Given the description of an element on the screen output the (x, y) to click on. 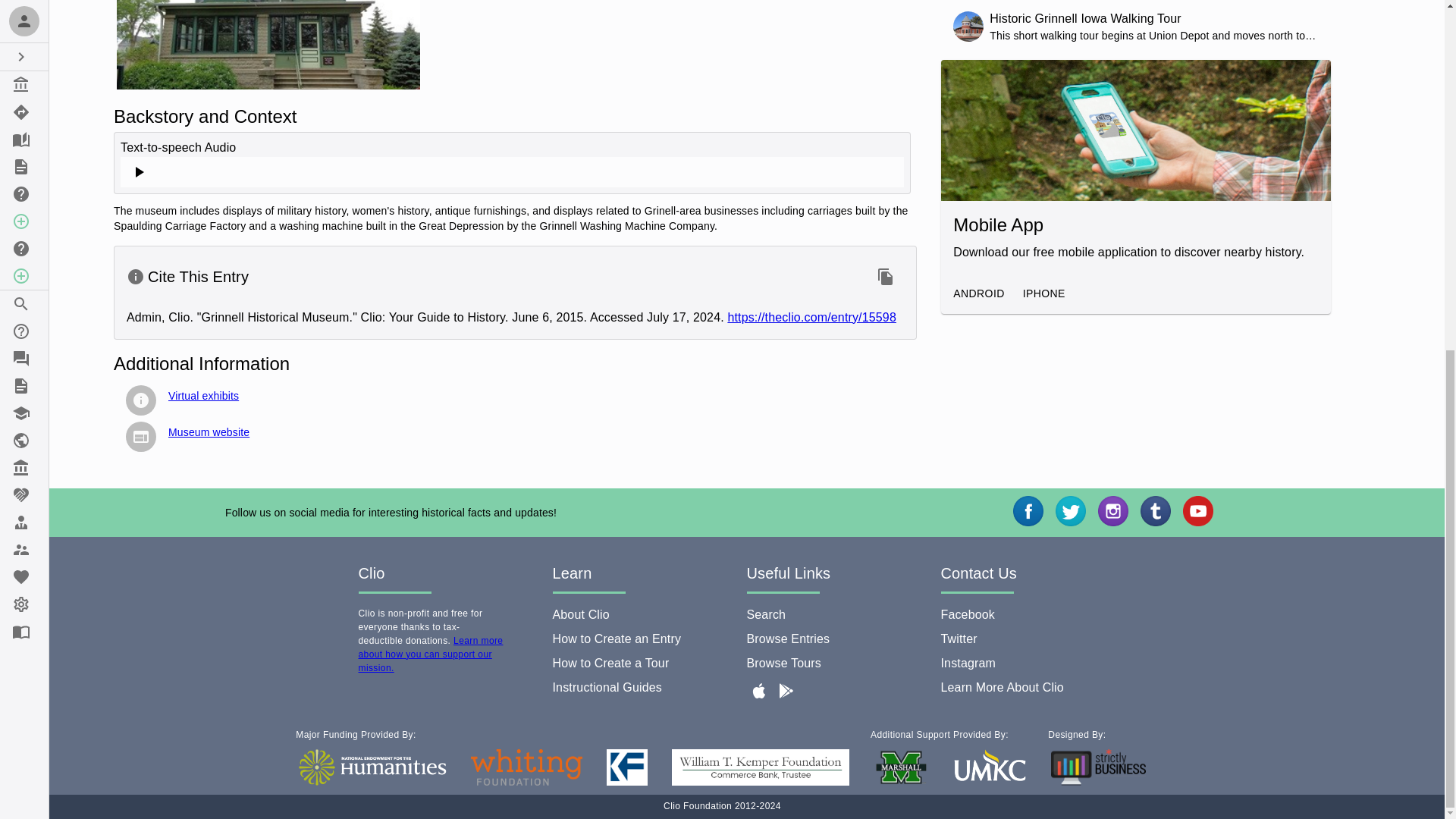
Museum website (208, 431)
Virtual exhibits (203, 395)
